Given the description of an element on the screen output the (x, y) to click on. 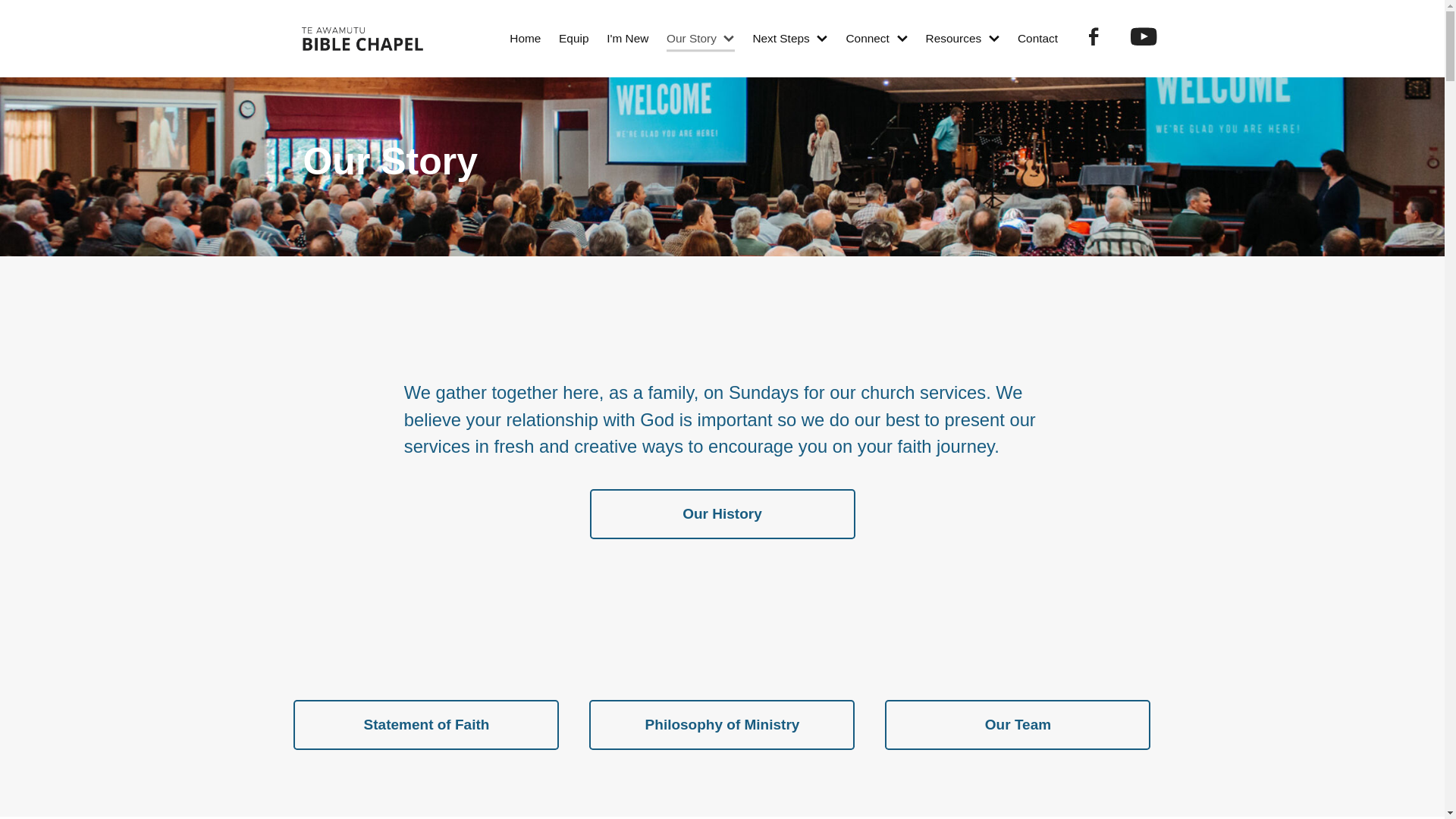
Home (525, 38)
Statement of Faith (426, 725)
A link to this website's Facebook. (1093, 35)
Philosophy of Ministry (721, 725)
Resources (963, 38)
Equip (573, 38)
A link to this website's Youtube. (1143, 35)
Next Steps (790, 38)
I'm New (627, 38)
Contact (1038, 38)
